Given the description of an element on the screen output the (x, y) to click on. 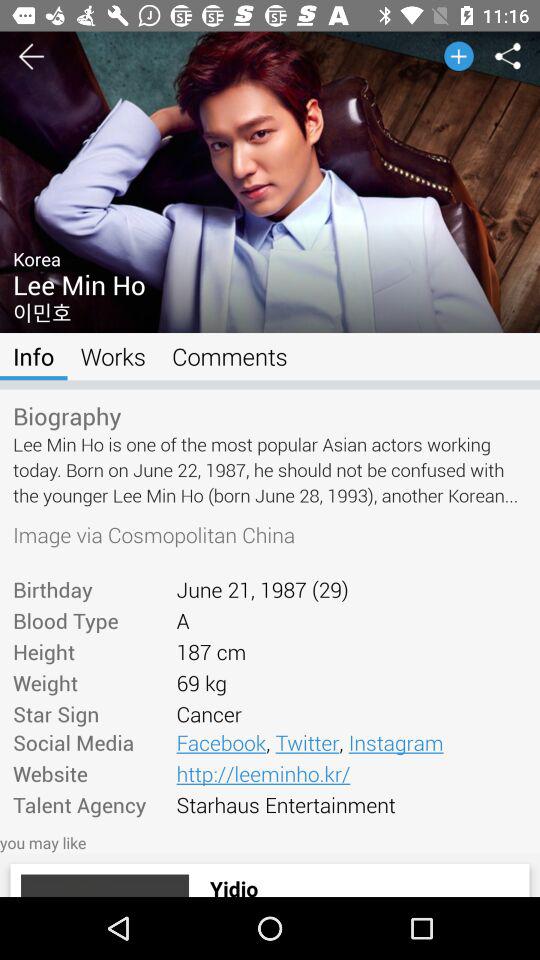
select the app next to the info item (112, 356)
